Given the description of an element on the screen output the (x, y) to click on. 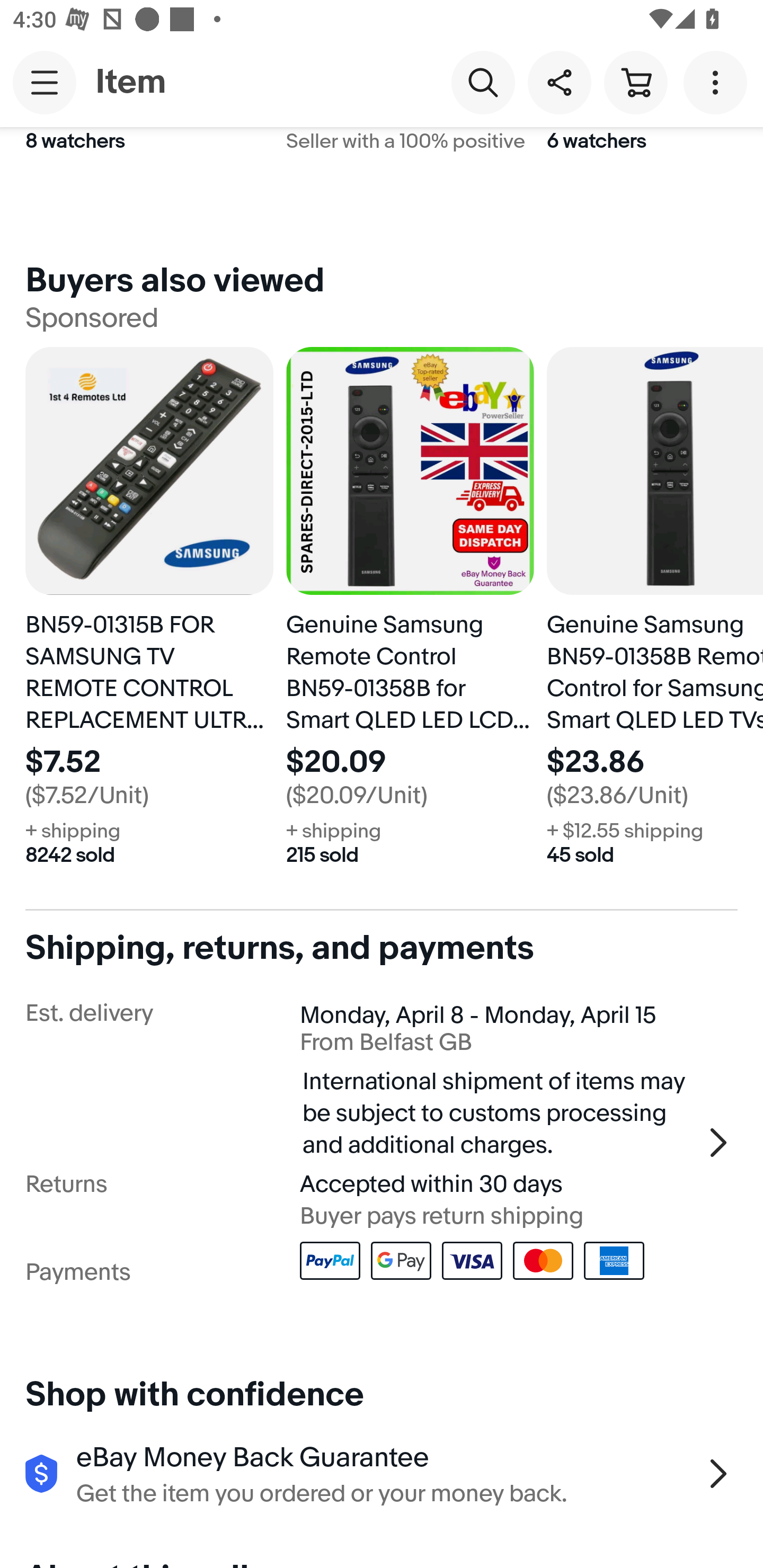
Main navigation, open (44, 82)
Search (482, 81)
Share this item (559, 81)
Cart button shopping cart (635, 81)
More options (718, 81)
+ shipping + shipping 8 watchers 8 watchers (149, 174)
+ shipping + shipping 6 watchers 6 watchers (655, 174)
